Given the description of an element on the screen output the (x, y) to click on. 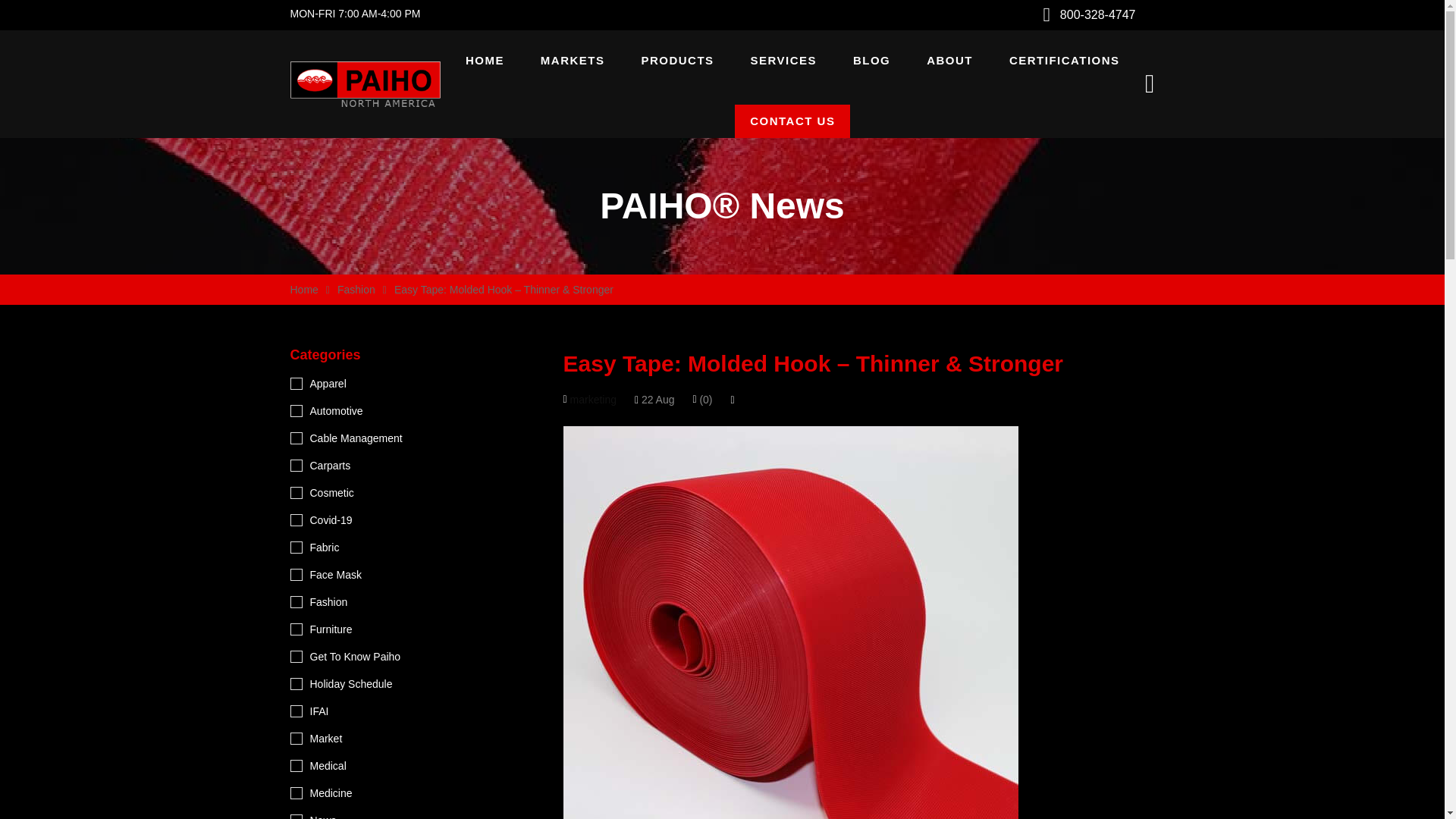
CONTACT US (792, 121)
MON-FRI 7:00 AM-4:00 PM (354, 13)
PRODUCTS (676, 60)
MARKETS (572, 60)
SERVICES (782, 60)
CERTIFICATIONS (1064, 60)
800-328-4747 (1097, 14)
